Given the description of an element on the screen output the (x, y) to click on. 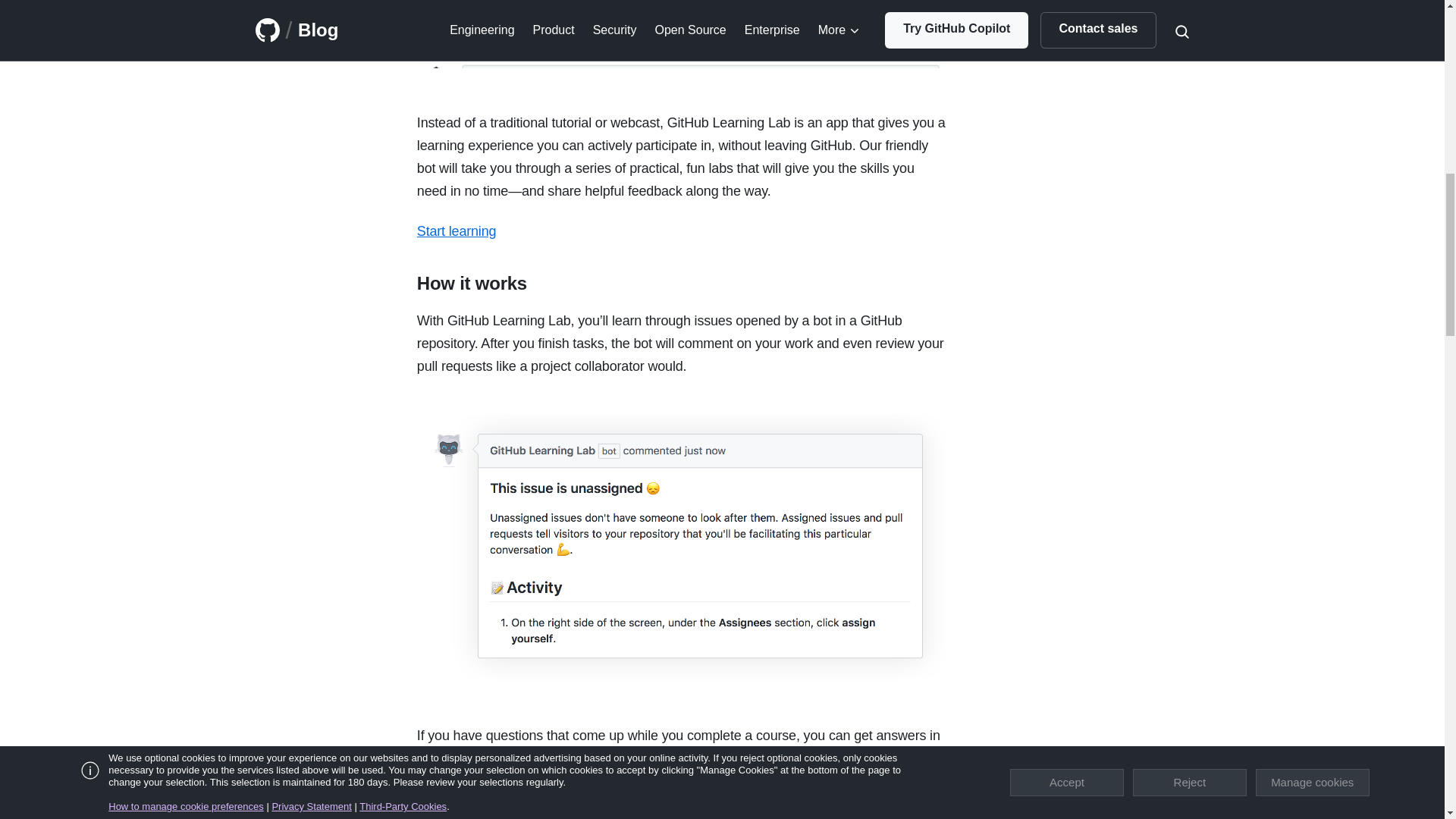
Start learning (456, 230)
